Given the description of an element on the screen output the (x, y) to click on. 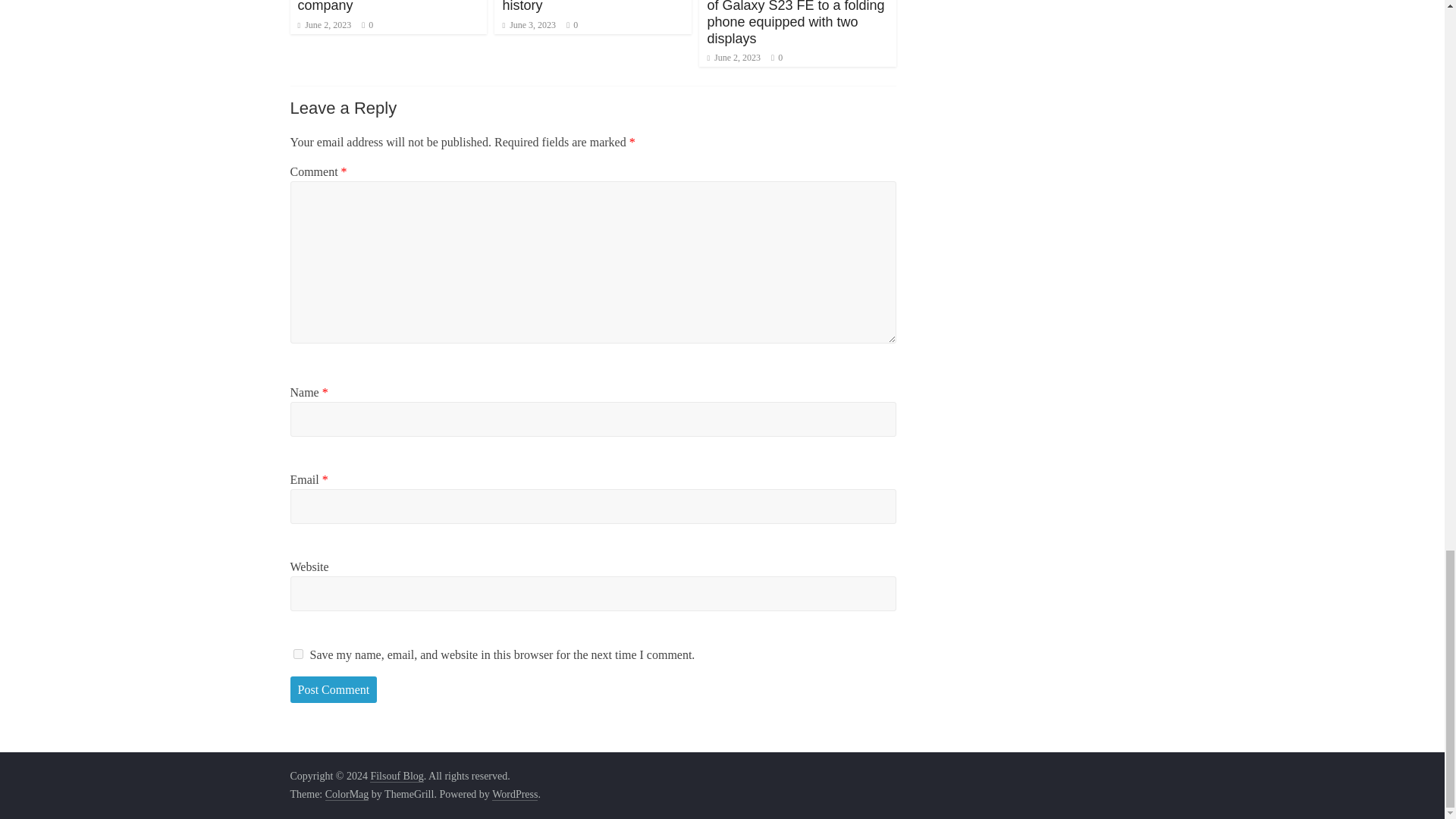
Post Comment (333, 689)
Post Comment (333, 689)
June 2, 2023 (323, 24)
June 3, 2023 (529, 24)
8:45 pm (529, 24)
June 2, 2023 (733, 57)
yes (297, 654)
2:41 pm (323, 24)
